Given the description of an element on the screen output the (x, y) to click on. 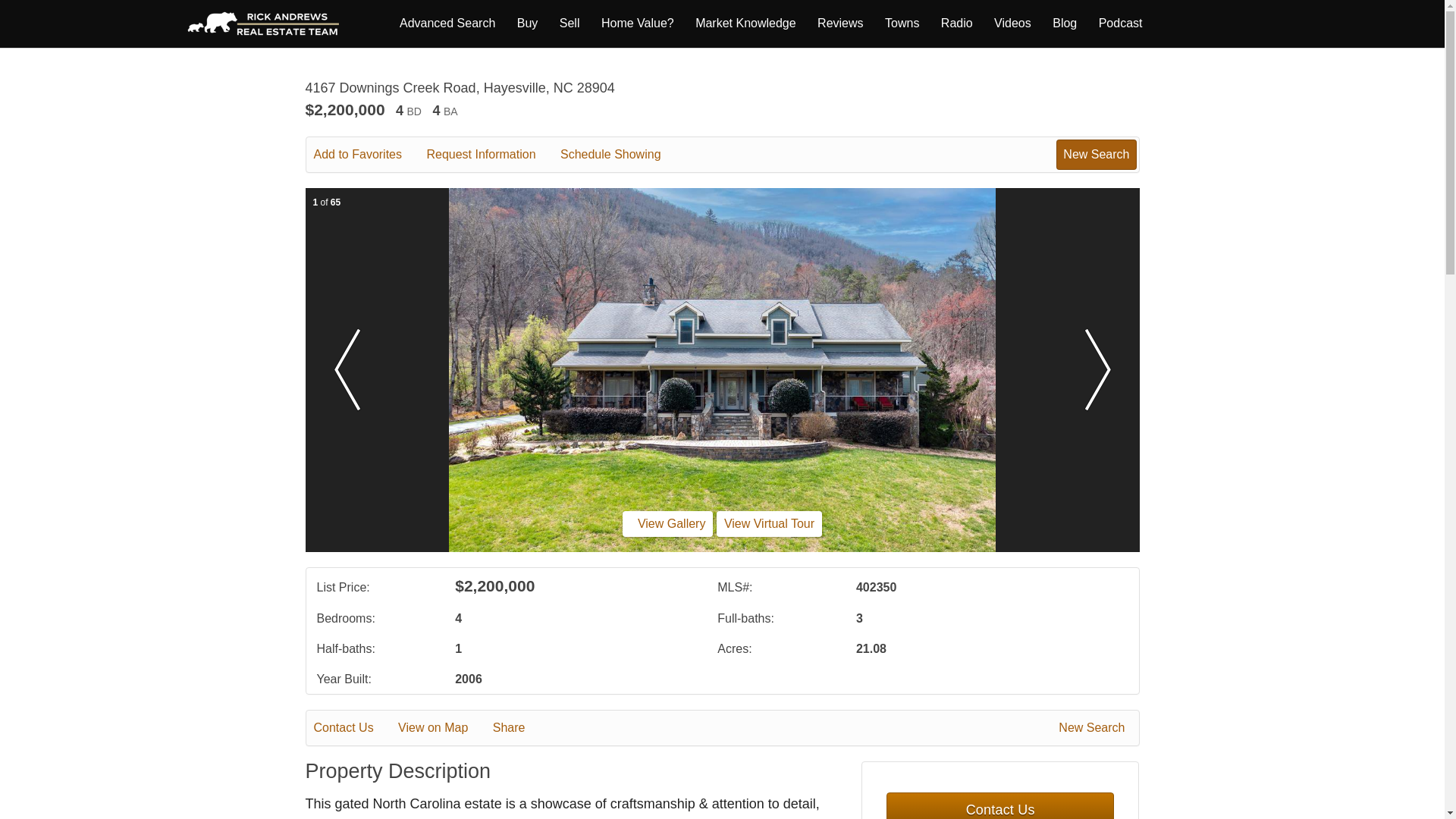
Contact Us (354, 727)
Advanced Search (446, 22)
Towns (901, 22)
Add to Favorites (368, 154)
Podcast (1120, 22)
Sell (569, 22)
Buy (527, 22)
Schedule Showing (621, 154)
Home Value? (637, 22)
View Gallery (668, 524)
Share (520, 727)
Reviews (839, 22)
View Gallery (668, 522)
New Search (1094, 727)
View Virtual Tour (769, 524)
